Given the description of an element on the screen output the (x, y) to click on. 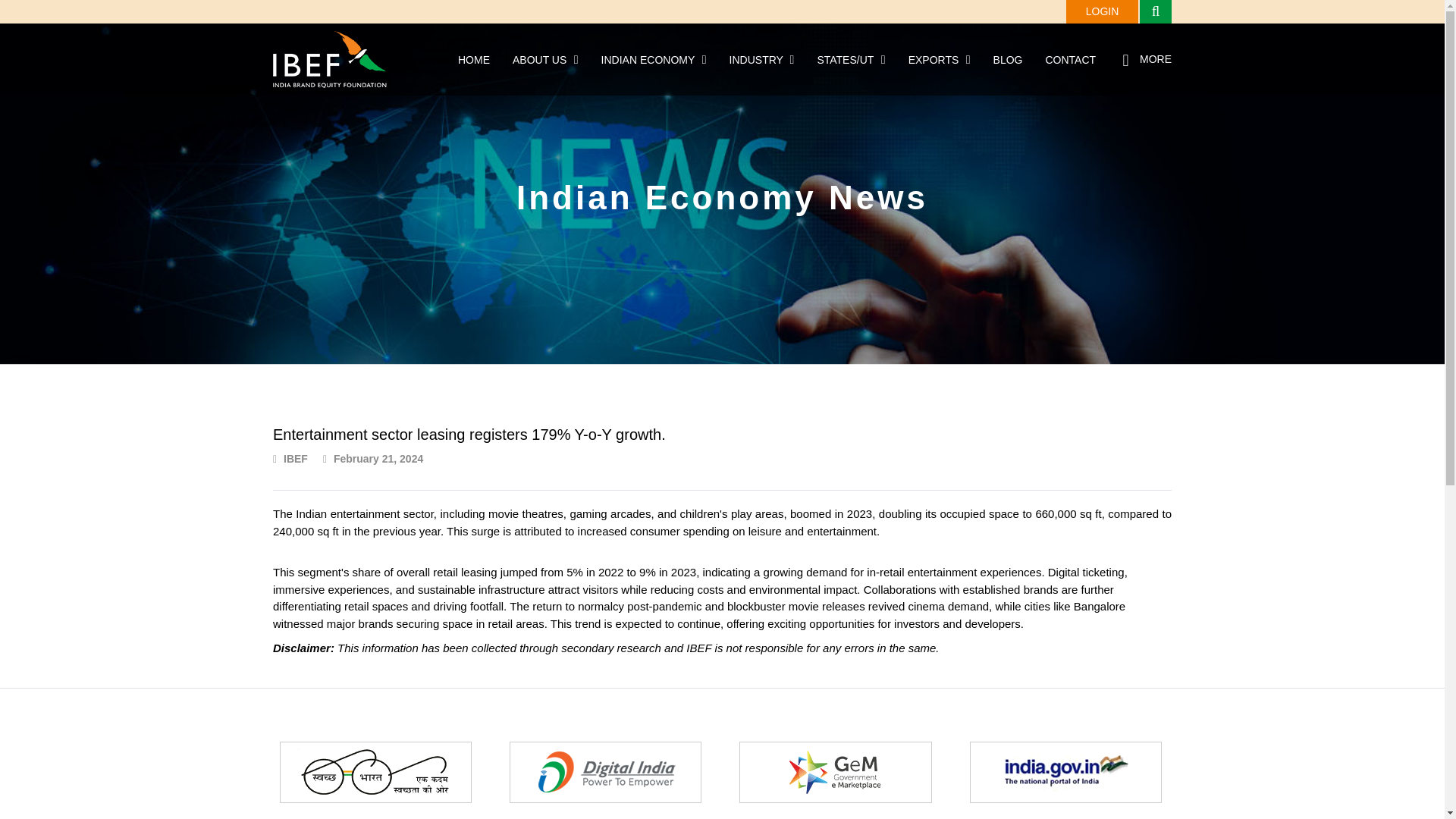
ABOUT US (539, 60)
INDUSTRY (757, 60)
INDIAN ECONOMY (648, 60)
LOGIN (1101, 11)
